Given the description of an element on the screen output the (x, y) to click on. 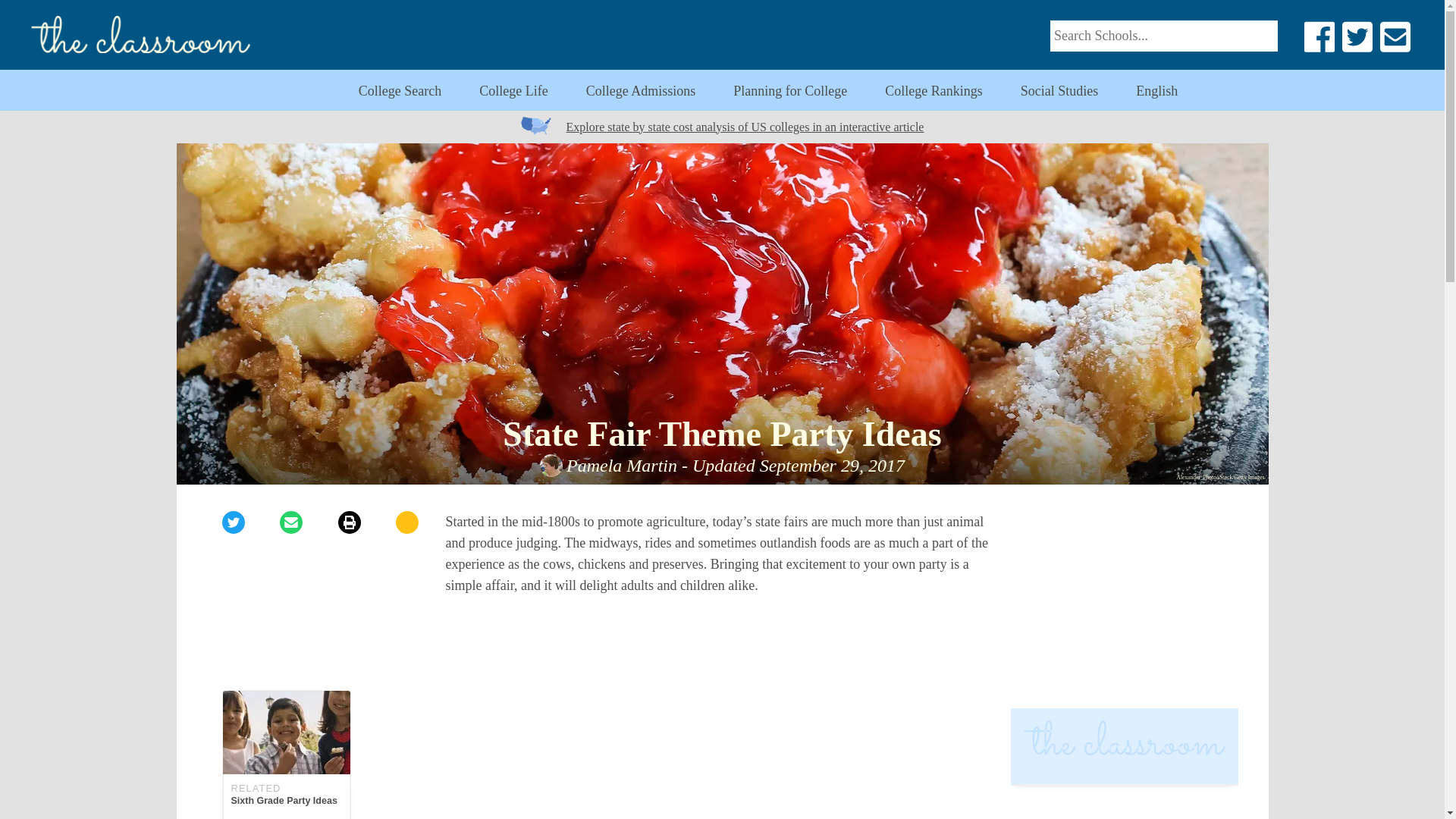
Planning for College (285, 754)
3rd party ad content (790, 91)
English (1123, 806)
Advertisement (1156, 91)
College Search (721, 756)
3rd party ad content (399, 91)
College Life (1123, 606)
Social Studies (513, 91)
3rd party ad content (1059, 91)
